Given the description of an element on the screen output the (x, y) to click on. 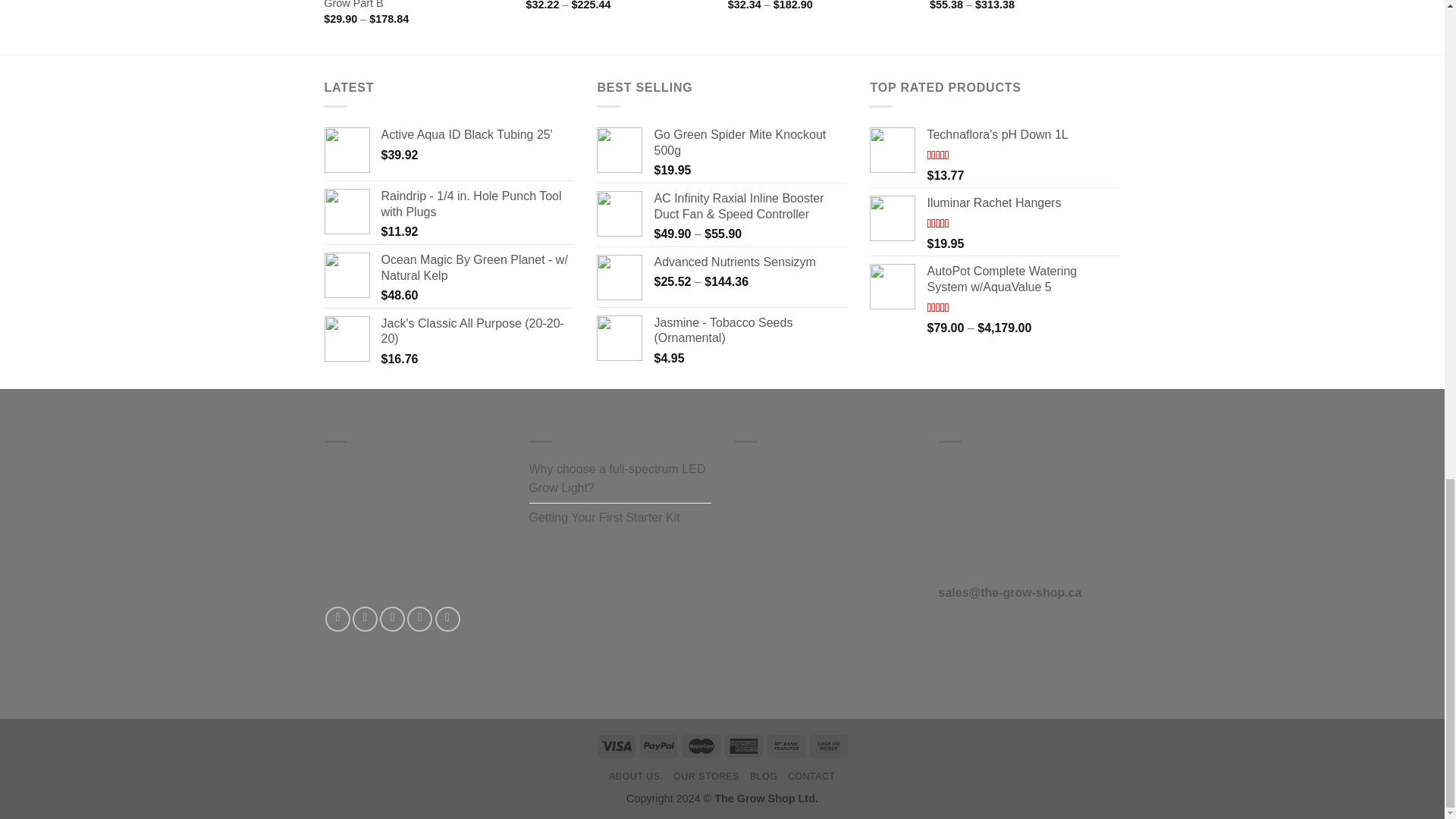
Follow on Facebook (337, 618)
Follow on Instagram (364, 618)
Follow on Twitter (392, 618)
